Given the description of an element on the screen output the (x, y) to click on. 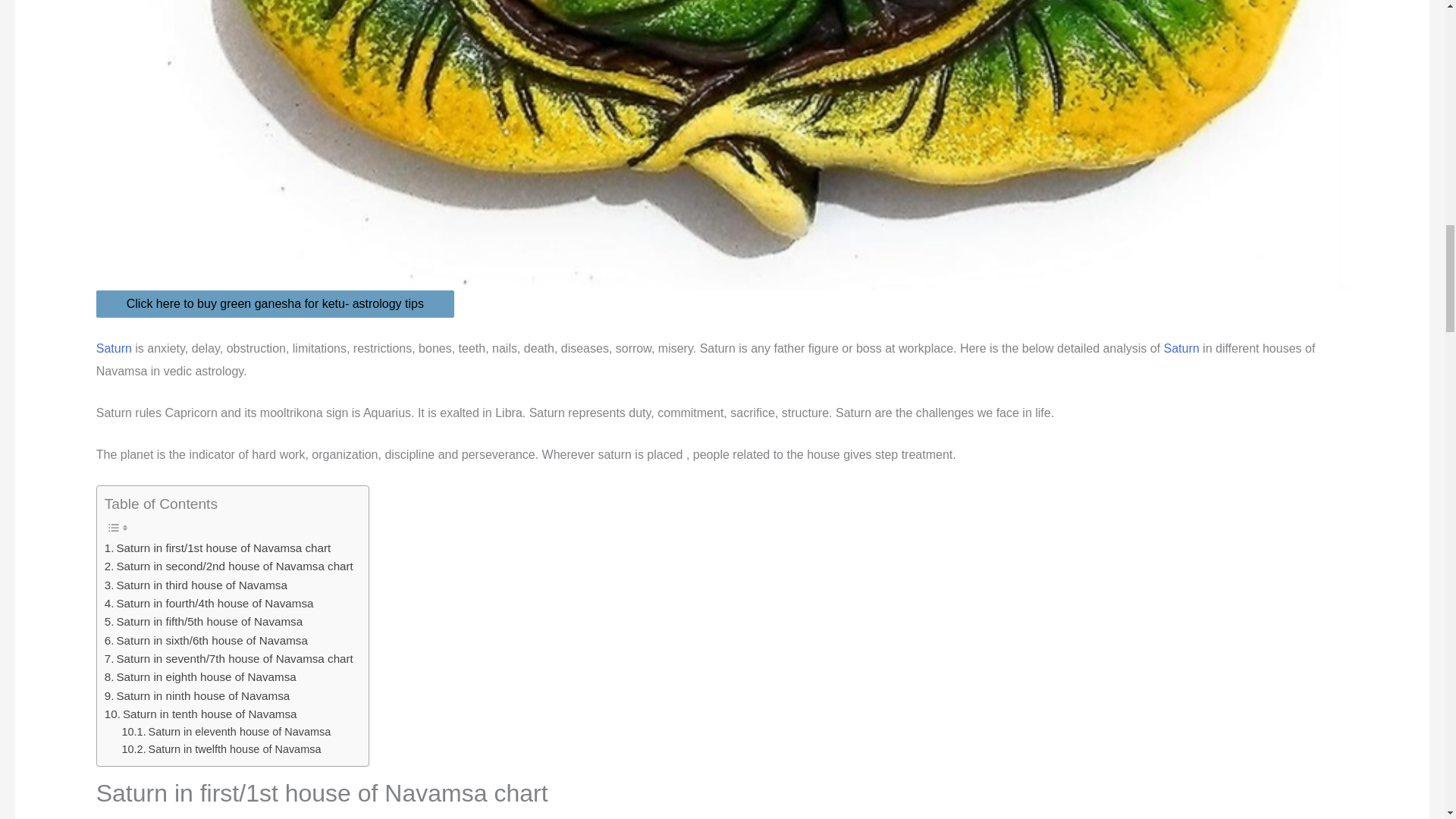
Saturn in eighth house of Navamsa (200, 677)
Saturn in twelfth house of Navamsa (221, 749)
Saturn (114, 348)
Saturn in ninth house of Navamsa (196, 696)
Saturn in tenth house of Navamsa (200, 714)
Saturn in eleventh house of Navamsa (226, 732)
Saturn (1181, 348)
Saturn in eighth house of Navamsa (200, 677)
Saturn in tenth house of Navamsa (200, 714)
Saturn in third house of Navamsa (195, 585)
Saturn in twelfth house of Navamsa (221, 749)
Click here to buy green ganesha for ketu- astrology tips (275, 303)
Saturn in eleventh house of Navamsa (226, 732)
Saturn in ninth house of Navamsa (196, 696)
Saturn in third house of Navamsa (195, 585)
